Given the description of an element on the screen output the (x, y) to click on. 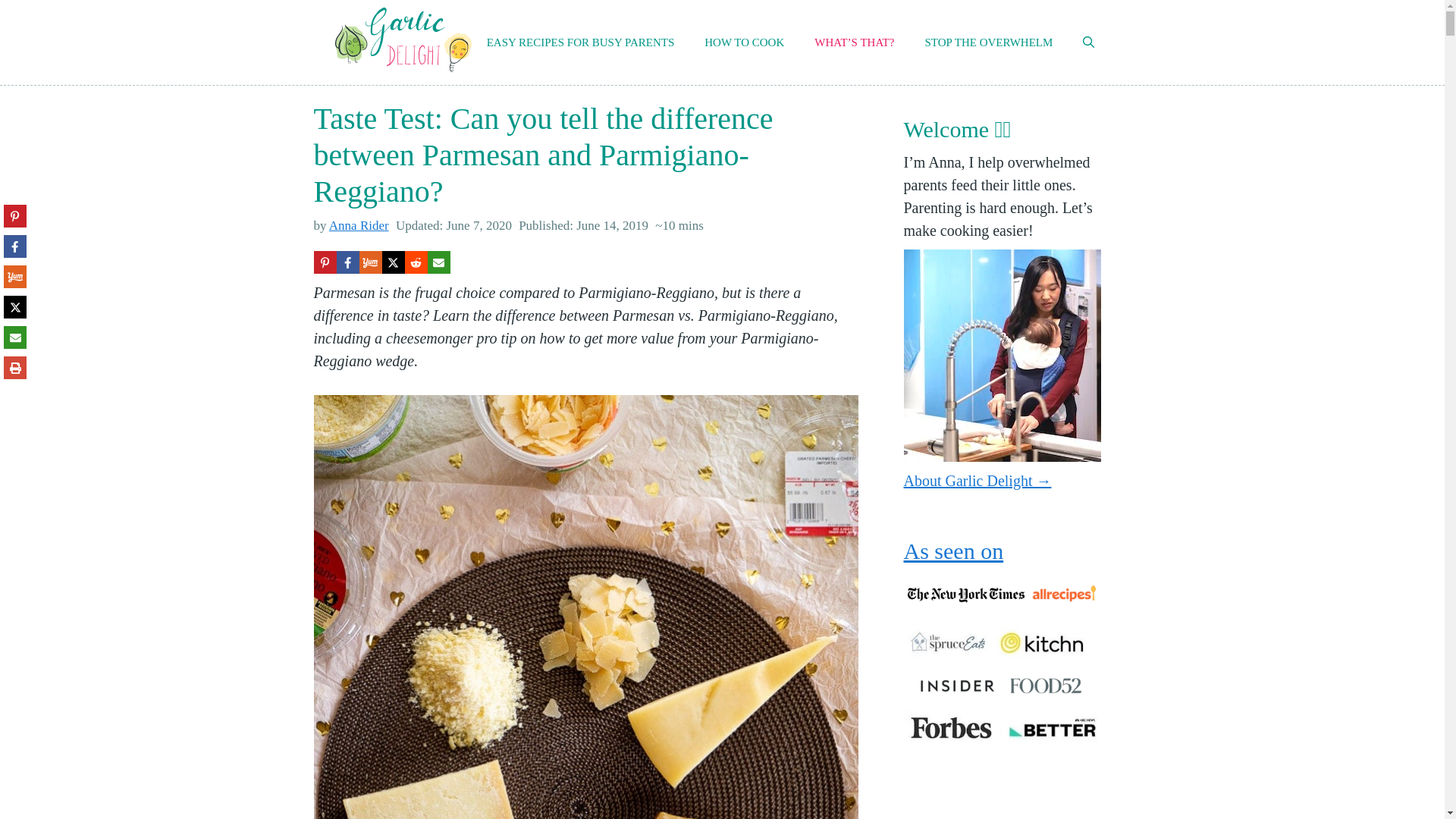
STOP THE OVERWHELM (987, 42)
Garlic Delight (402, 39)
View all posts by Anna Rider (358, 225)
Garlic Delight (402, 42)
Anna Rider (358, 225)
HOW TO COOK (743, 42)
EASY RECIPES FOR BUSY PARENTS (580, 42)
